Given the description of an element on the screen output the (x, y) to click on. 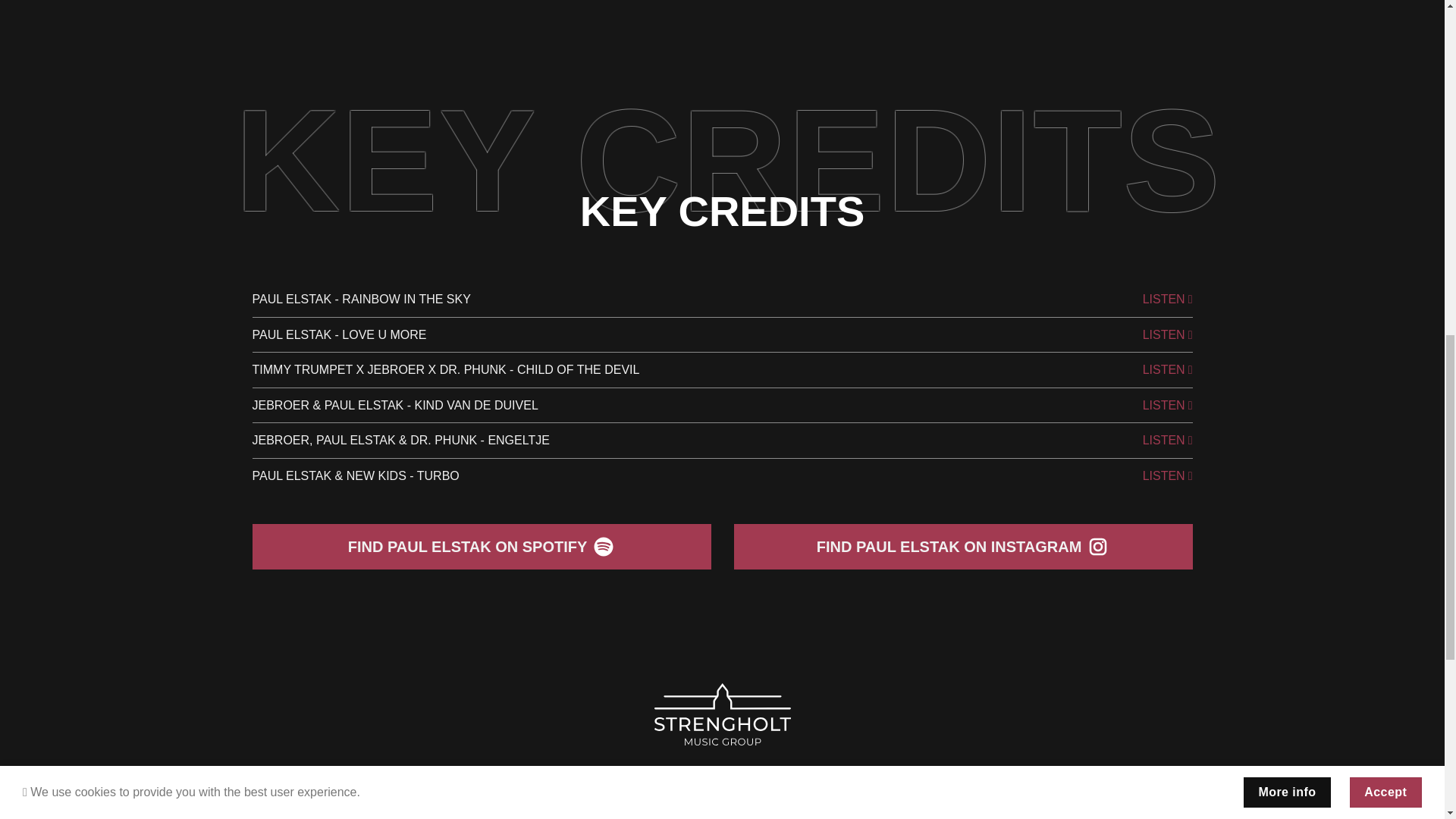
LISTEN (1167, 440)
LISTEN (1167, 334)
FIND PAUL ELSTAK ON INSTAGRAM (962, 546)
LISTEN (1167, 405)
LISTEN (1167, 476)
LISTEN (1167, 299)
FIND PAUL ELSTAK ON SPOTIFY (480, 546)
LISTEN (1167, 370)
